Given the description of an element on the screen output the (x, y) to click on. 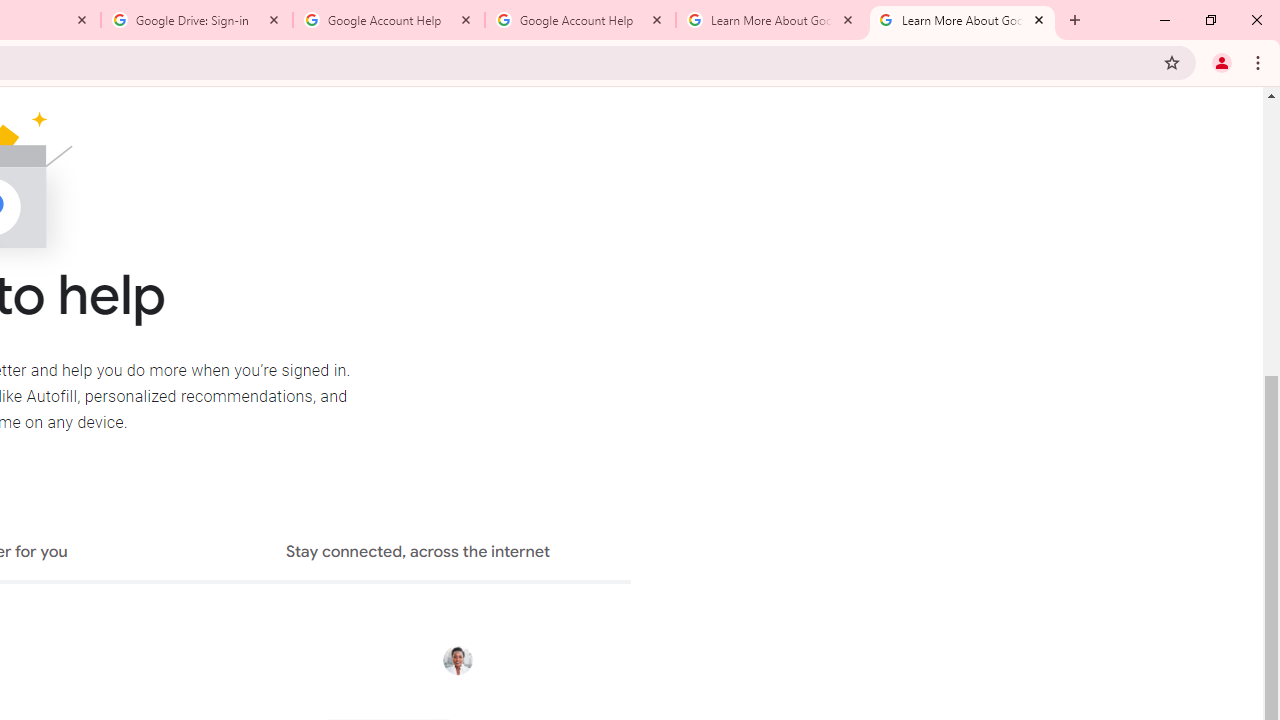
Google Account Help (580, 20)
Google Drive: Sign-in (197, 20)
Stay connected, across the internet (417, 553)
Google Account Help (389, 20)
